Given the description of an element on the screen output the (x, y) to click on. 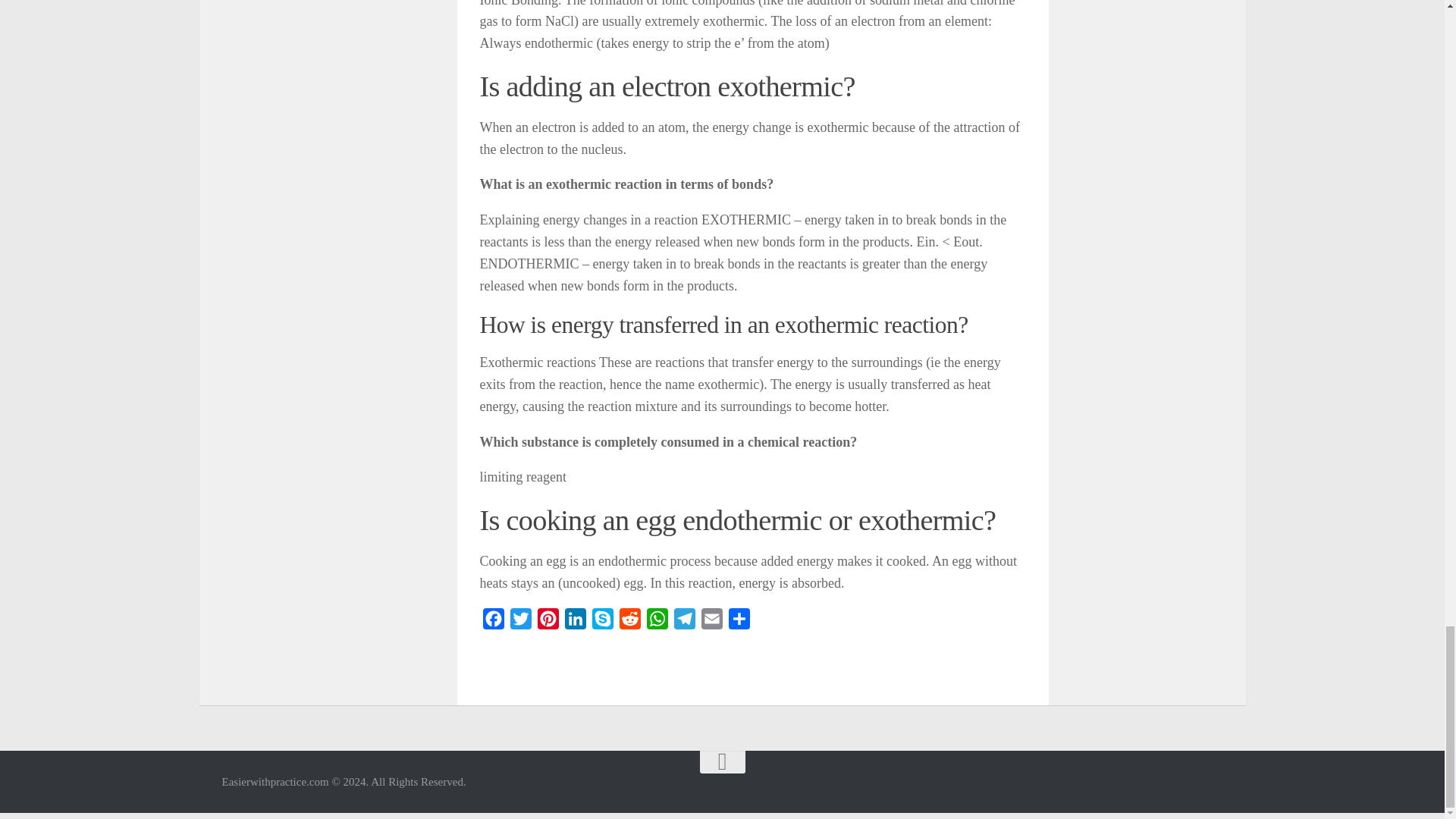
WhatsApp (656, 622)
Telegram (683, 622)
Pinterest (547, 622)
LinkedIn (574, 622)
Reddit (629, 622)
Email (711, 622)
WhatsApp (656, 622)
Skype (601, 622)
Twitter (520, 622)
Skype (601, 622)
Twitter (520, 622)
Facebook (492, 622)
Email (711, 622)
Facebook (492, 622)
Pinterest (547, 622)
